Given the description of an element on the screen output the (x, y) to click on. 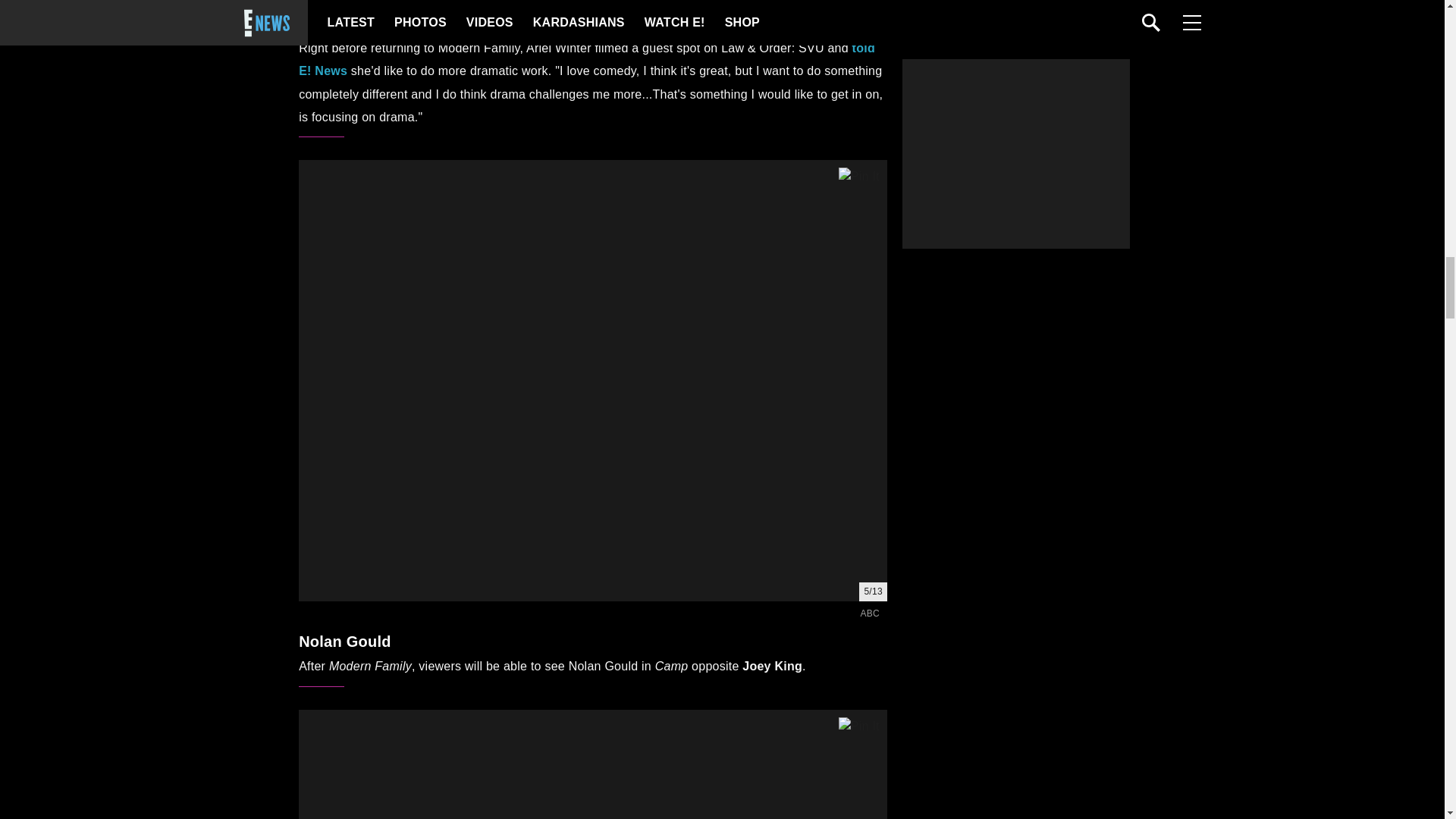
told E! News (586, 58)
